Given the description of an element on the screen output the (x, y) to click on. 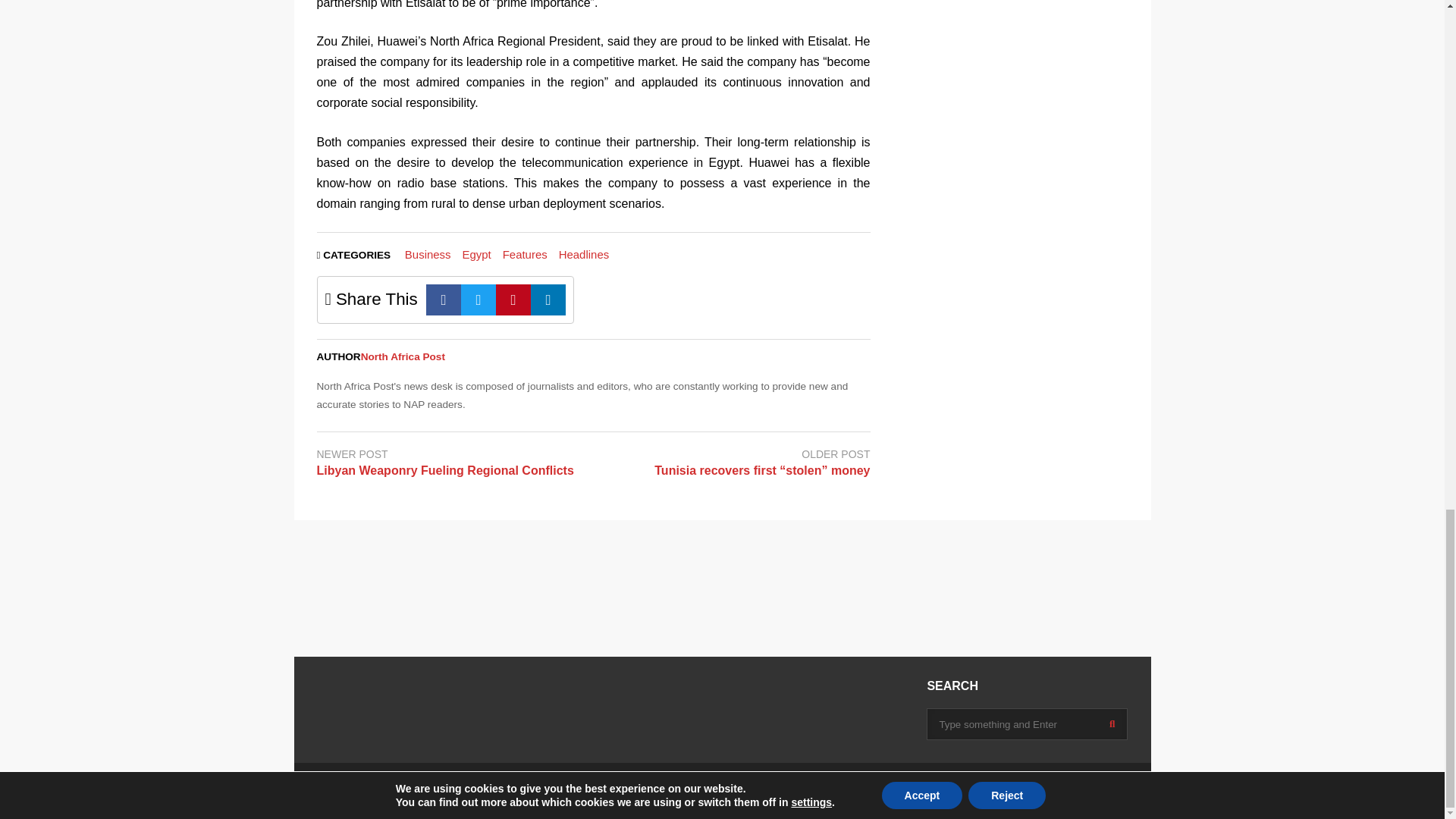
Facebook (443, 299)
Linkedin (548, 299)
Twitter (478, 299)
Pinterest (513, 299)
